Given the description of an element on the screen output the (x, y) to click on. 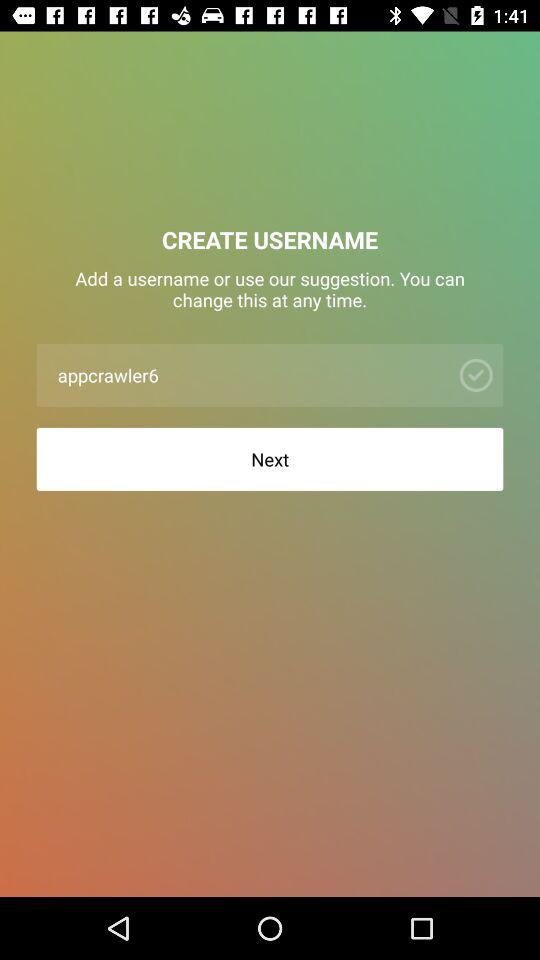
tap the icon below appcrawler6 icon (269, 458)
